Given the description of an element on the screen output the (x, y) to click on. 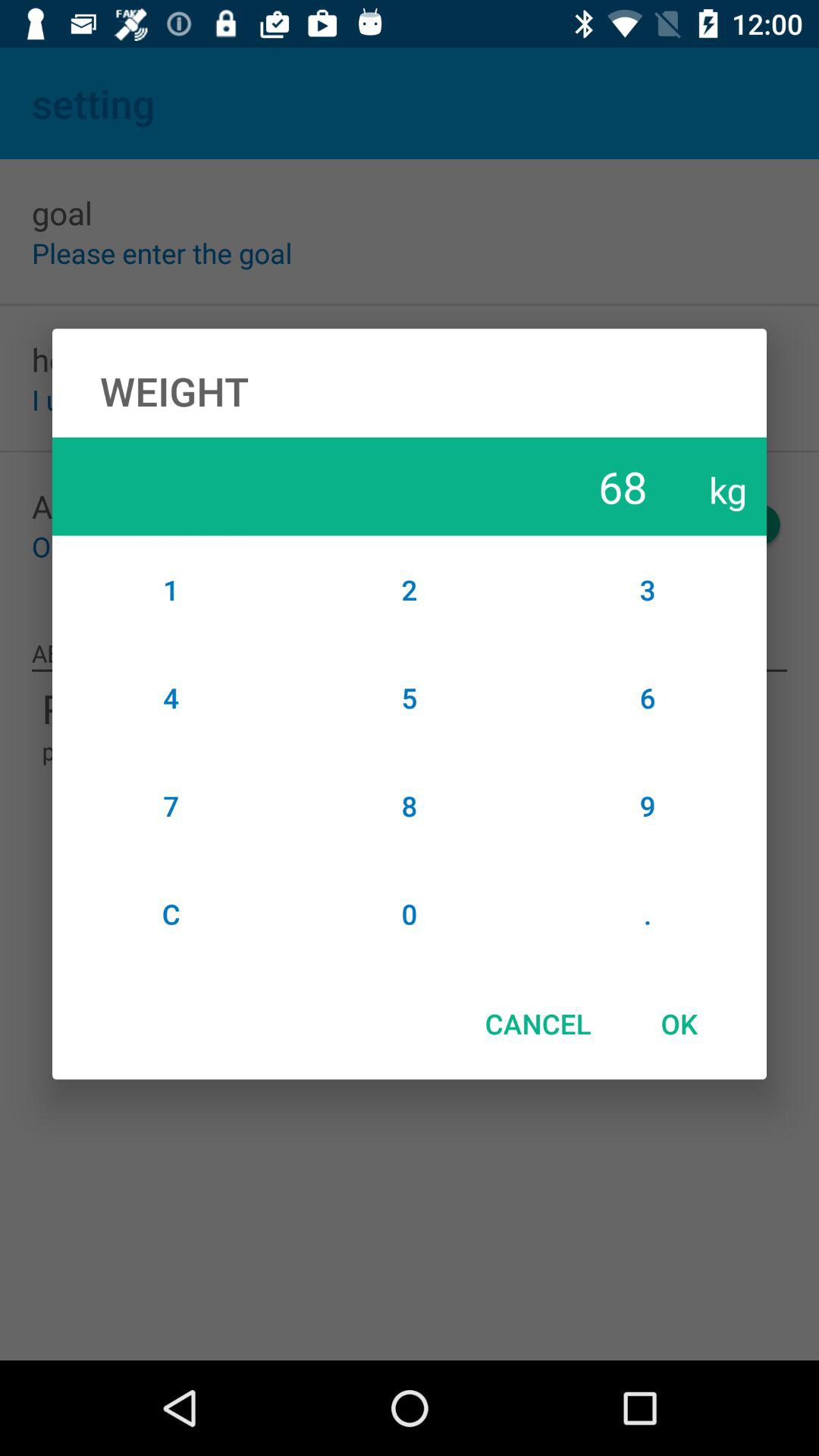
open the 0 item (409, 913)
